Given the description of an element on the screen output the (x, y) to click on. 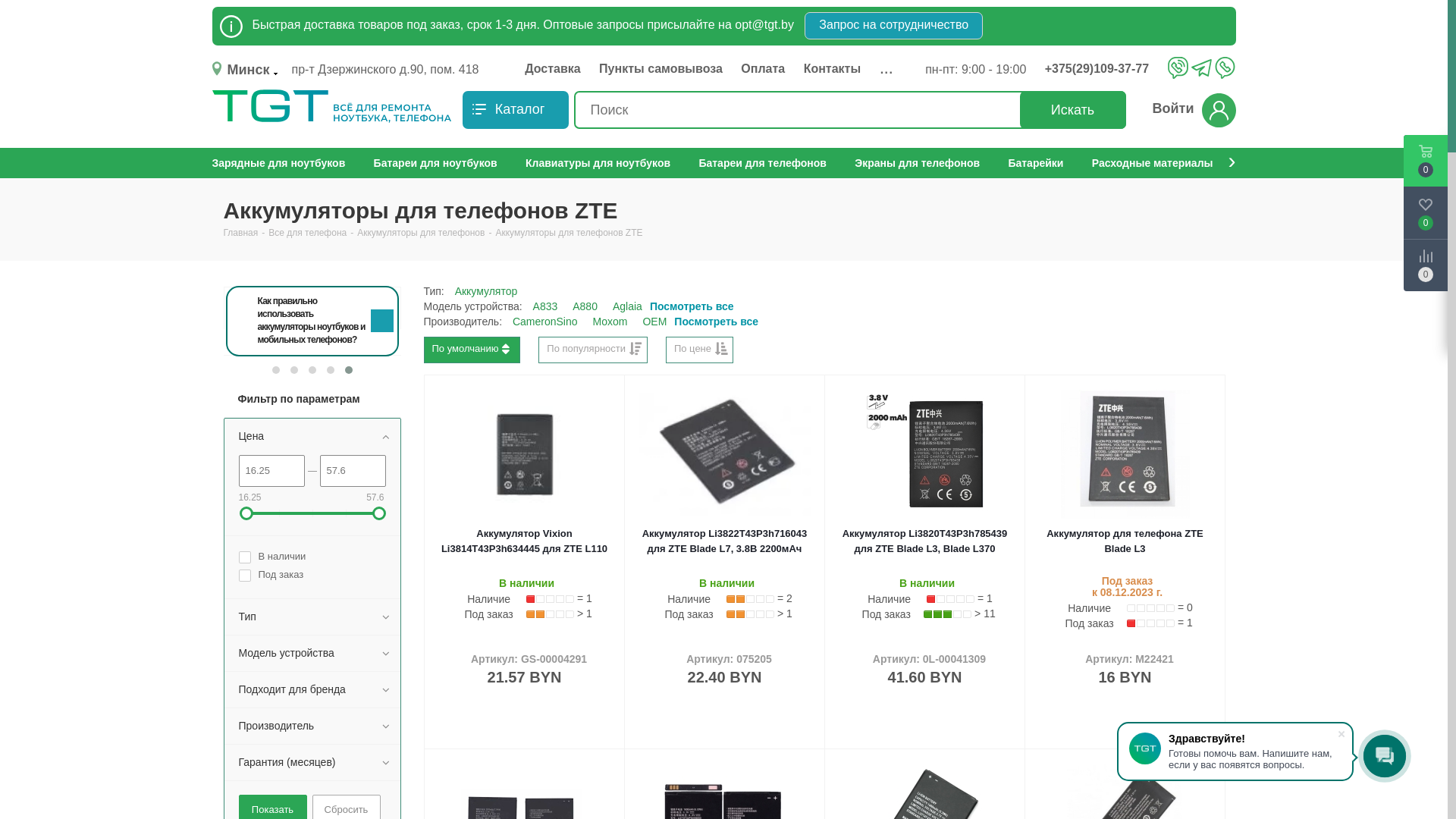
+375(29)109-37-77 Element type: text (1108, 68)
A833 Element type: text (545, 306)
CameronSino Element type: text (544, 321)
Y Element type: text (4, 4)
Aglaia Element type: text (627, 306)
OEM Element type: text (654, 321)
A880 Element type: text (584, 306)
opt@tgt.by Element type: text (763, 24)
viber Element type: hover (1177, 67)
whatsapp Element type: hover (1224, 67)
Moxom Element type: text (610, 321)
telegram Element type: hover (1201, 68)
